Given the description of an element on the screen output the (x, y) to click on. 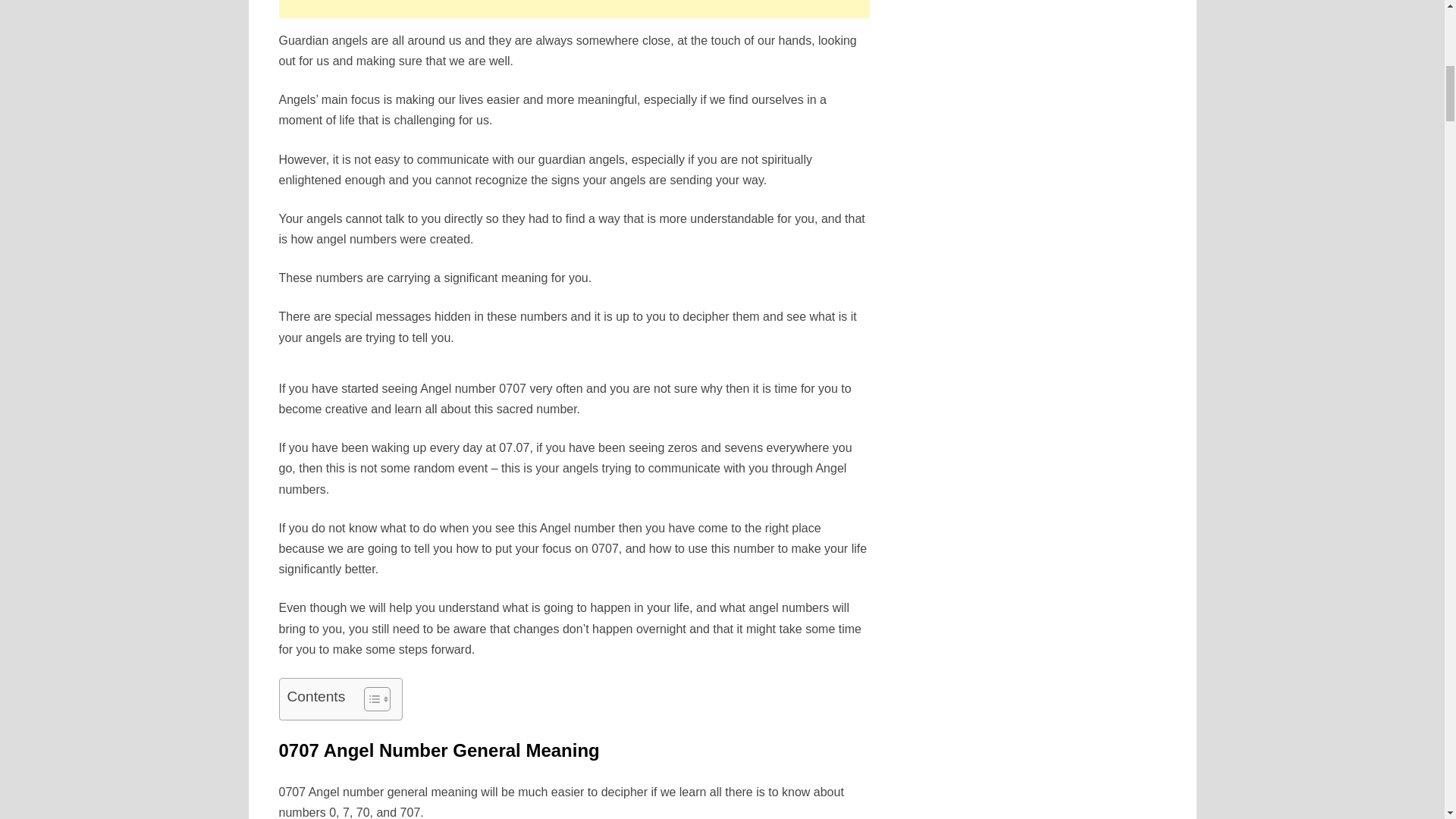
Advertisement (574, 9)
